Given the description of an element on the screen output the (x, y) to click on. 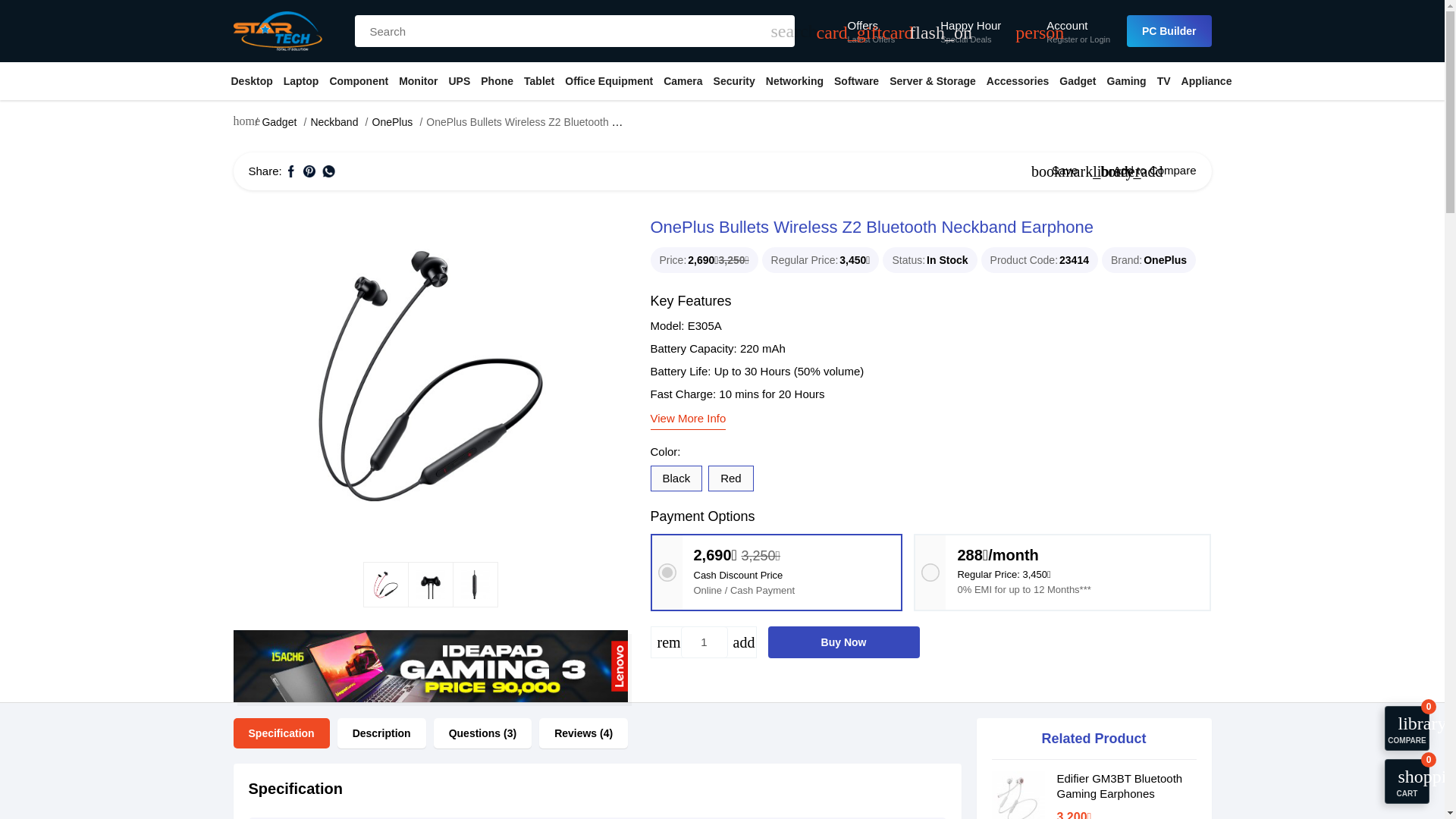
OnePlus Bullets Wireless Z2 Bluetooth Neckband Earphone (475, 584)
PC Builder (1168, 30)
OnePlus Bullets Wireless Z2 Bluetooth Neckband Earphone (429, 375)
search (779, 31)
Register (1061, 39)
1 (703, 641)
Account (1077, 25)
Login (1099, 39)
Home (241, 124)
Desktop (251, 80)
Star Tech Ltd  (276, 30)
OnePlus Bullets Wireless Z2 Bluetooth Neckband Earphone (430, 375)
OnePlus Bullets Wireless Z2 Bluetooth Neckband Earphone (385, 584)
OnePlus Bullets Wireless Z2 Bluetooth Neckband Earphone (430, 584)
person (1026, 30)
